Given the description of an element on the screen output the (x, y) to click on. 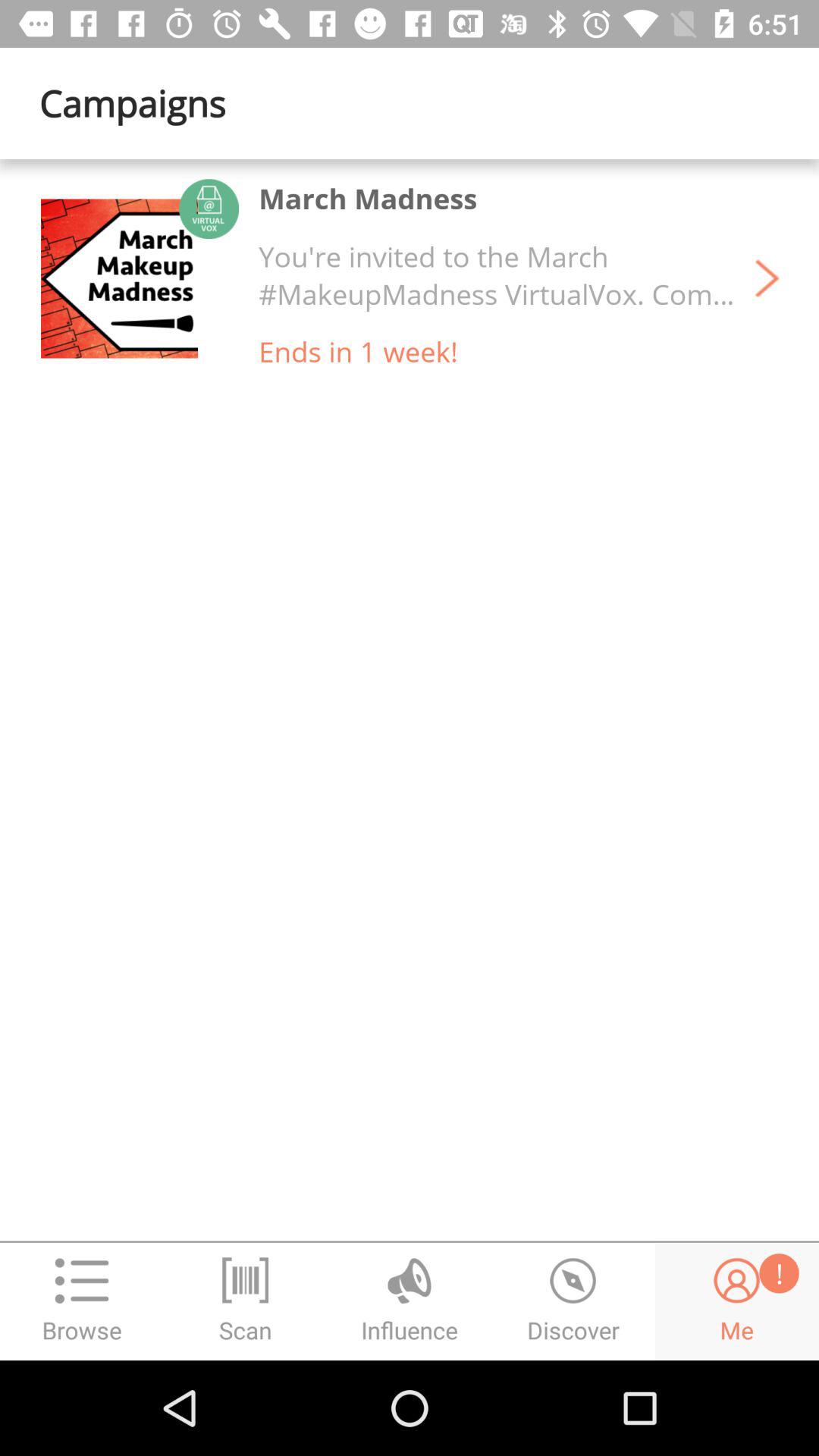
click icon next to the march madness item (119, 278)
